Given the description of an element on the screen output the (x, y) to click on. 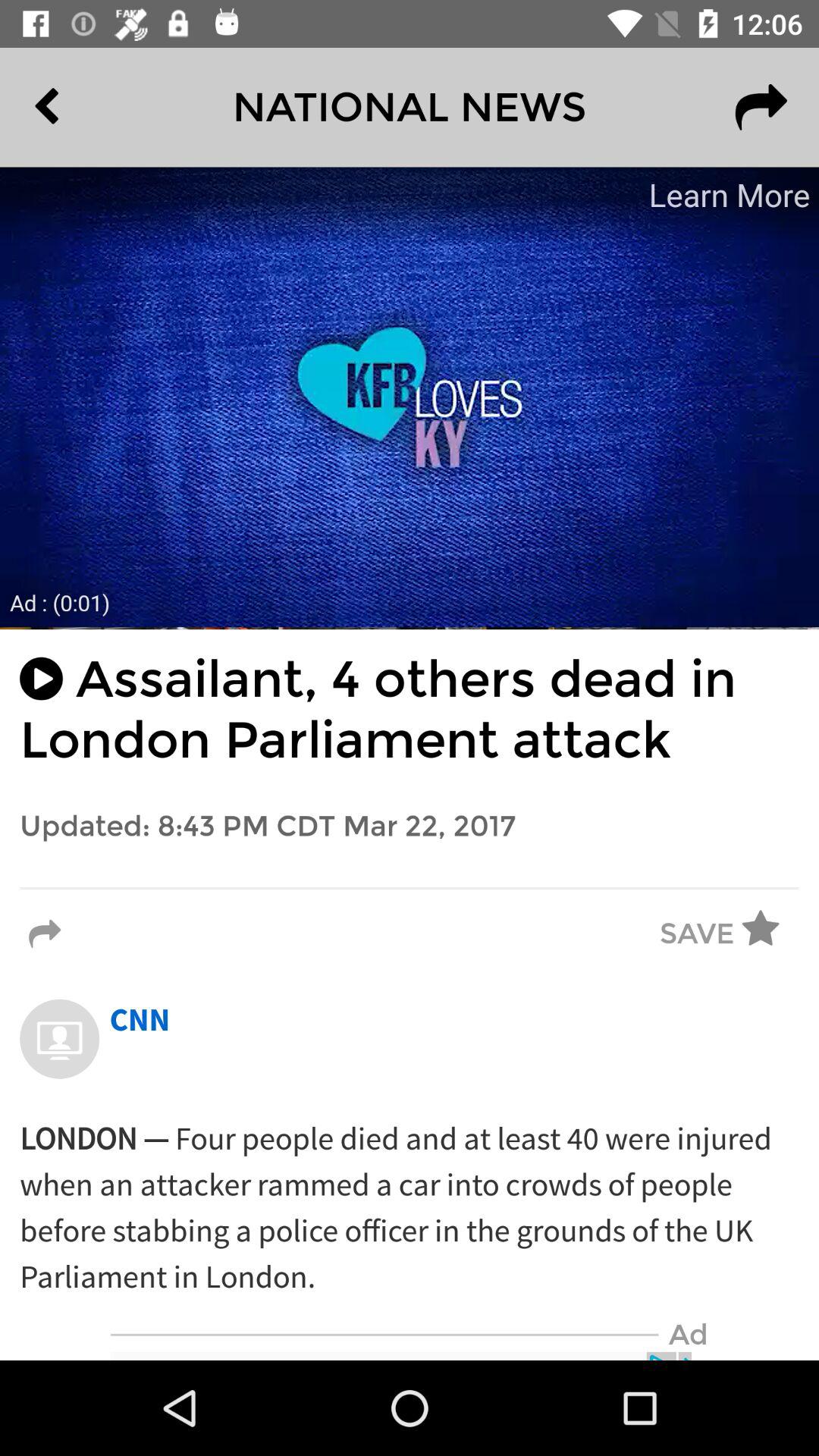
swipe to the assailant 4 others icon (409, 709)
